Given the description of an element on the screen output the (x, y) to click on. 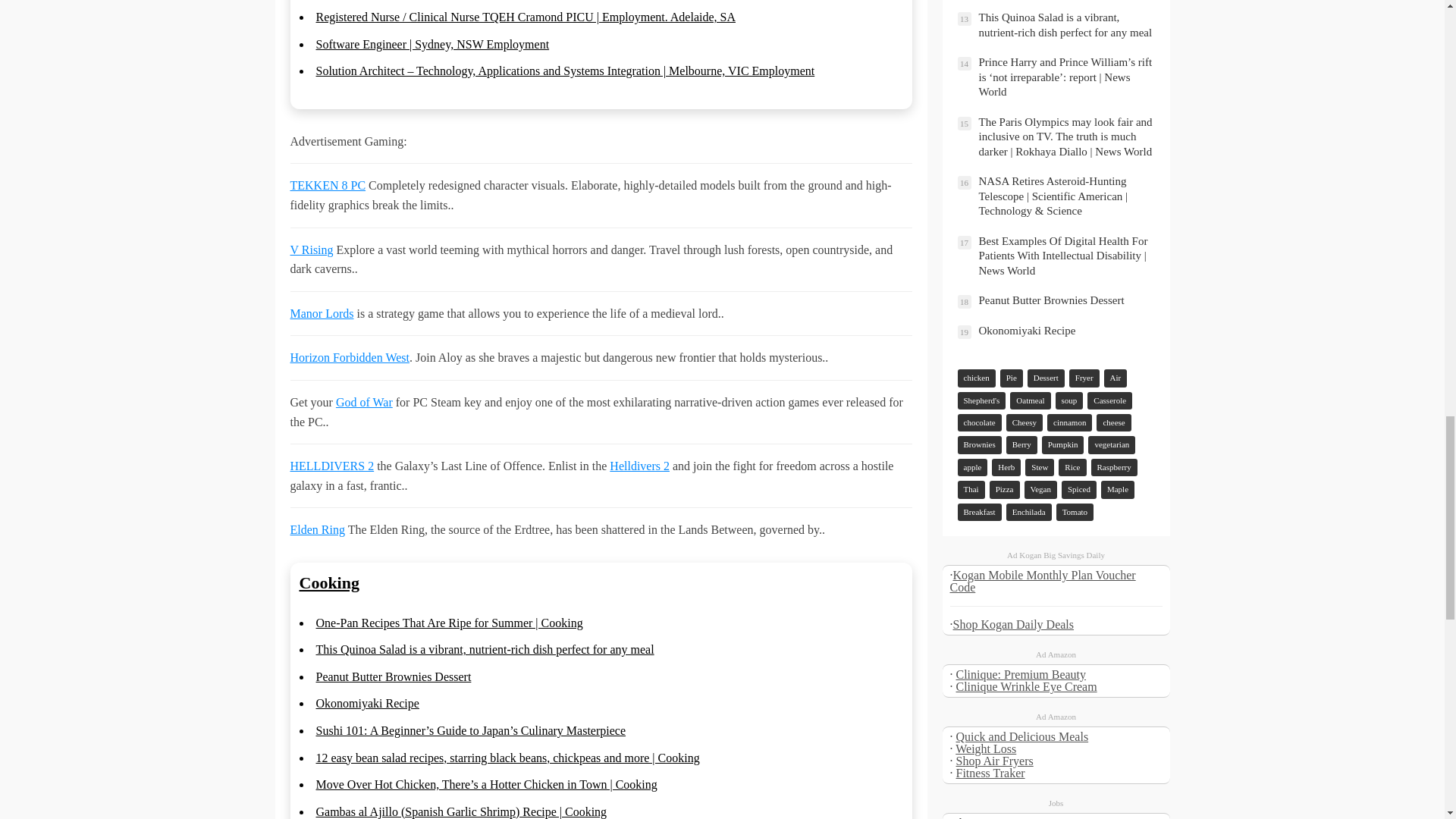
TEKKEN 8 PC (327, 185)
Horizon Forbidden West. Plus on PC! (349, 357)
God of War PC. Steam (364, 401)
Manor Lords (321, 313)
Elden Ring (316, 529)
HELLDIVERS 2 PC. Steam (331, 465)
V Rising (311, 249)
HELLDIVERS 2 PC. Steam (639, 465)
